Given the description of an element on the screen output the (x, y) to click on. 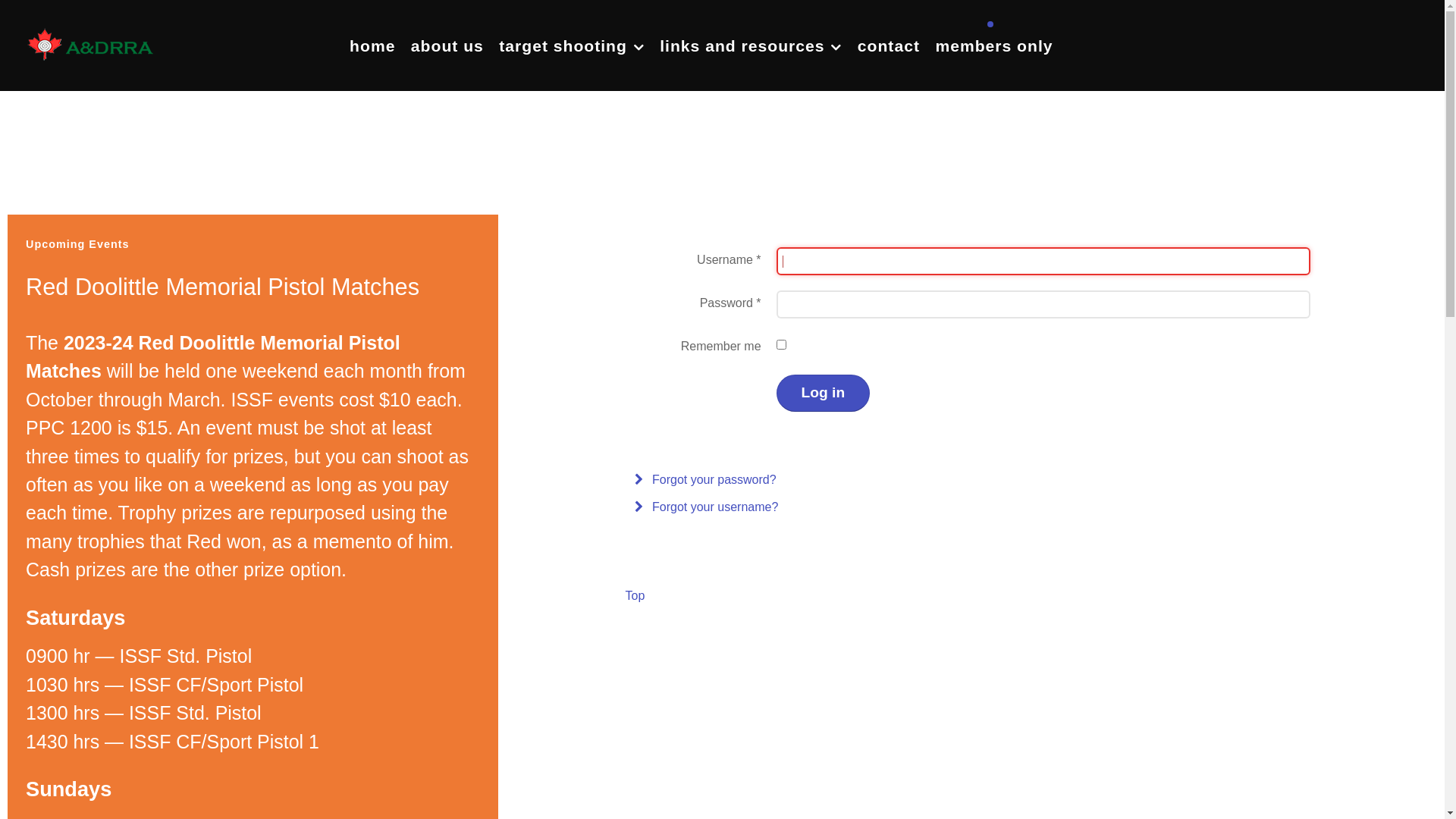
home Element type: text (372, 45)
aurora Element type: hover (90, 43)
target shooting Element type: text (571, 45)
contact Element type: text (888, 45)
members only Element type: text (993, 45)
Top Element type: text (635, 595)
links and resources Element type: text (750, 45)
about us Element type: text (446, 45)
Log in Element type: text (823, 392)
Forgot your username? Element type: text (975, 506)
Forgot your password? Element type: text (975, 479)
